Given the description of an element on the screen output the (x, y) to click on. 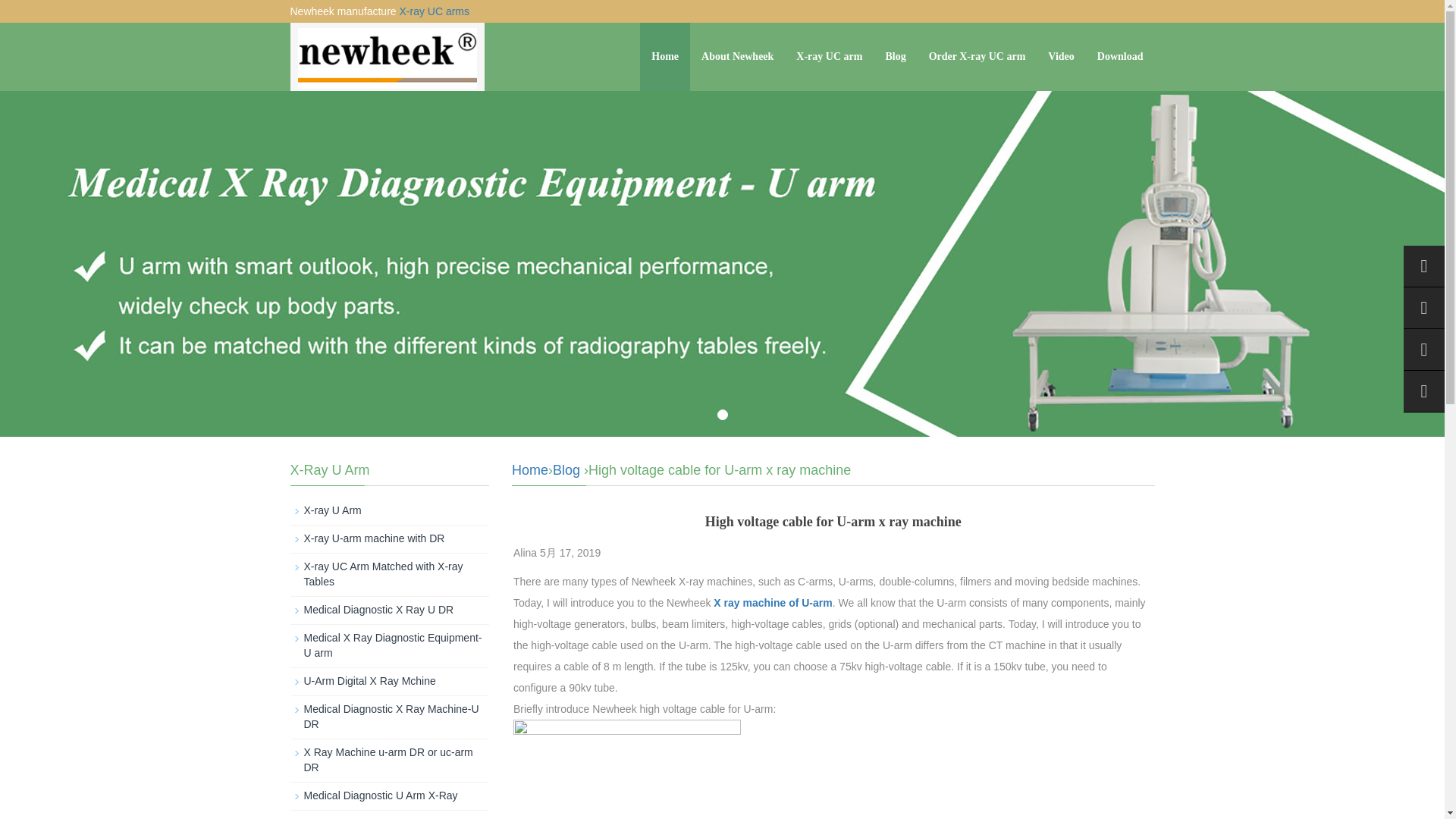
X ray machine of U-arm (772, 603)
X-ray UC arm (828, 56)
Order X-ray UC arm (976, 56)
Home (530, 469)
Blog (566, 469)
Back to Home page (530, 469)
About Newheek (737, 56)
Download (1120, 56)
1 (722, 414)
X-ray UC arms (433, 10)
